Given the description of an element on the screen output the (x, y) to click on. 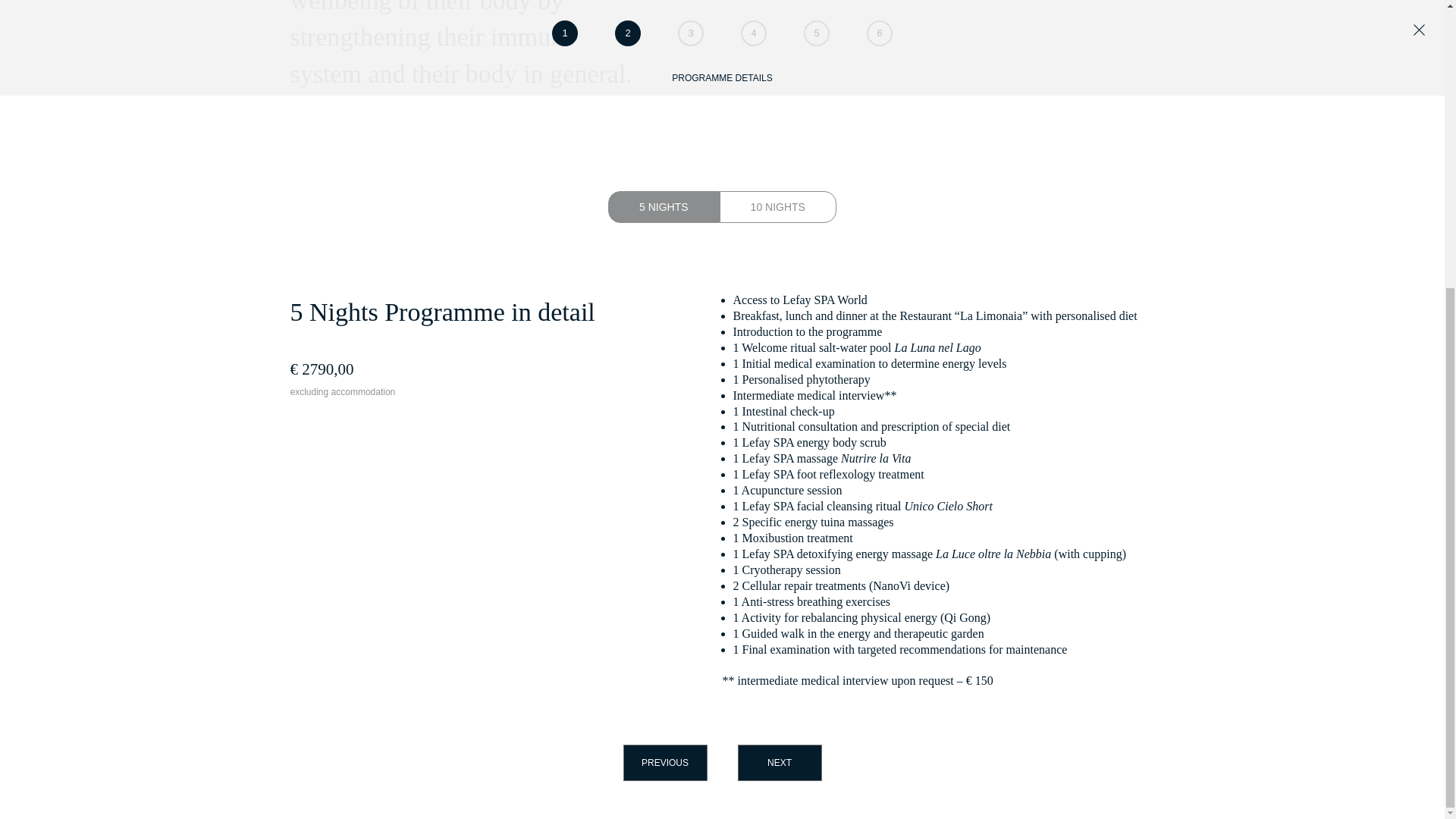
NEXT (778, 762)
PREVIOUS (665, 762)
10 NIGHTS (777, 206)
5 NIGHTS (663, 206)
